Given the description of an element on the screen output the (x, y) to click on. 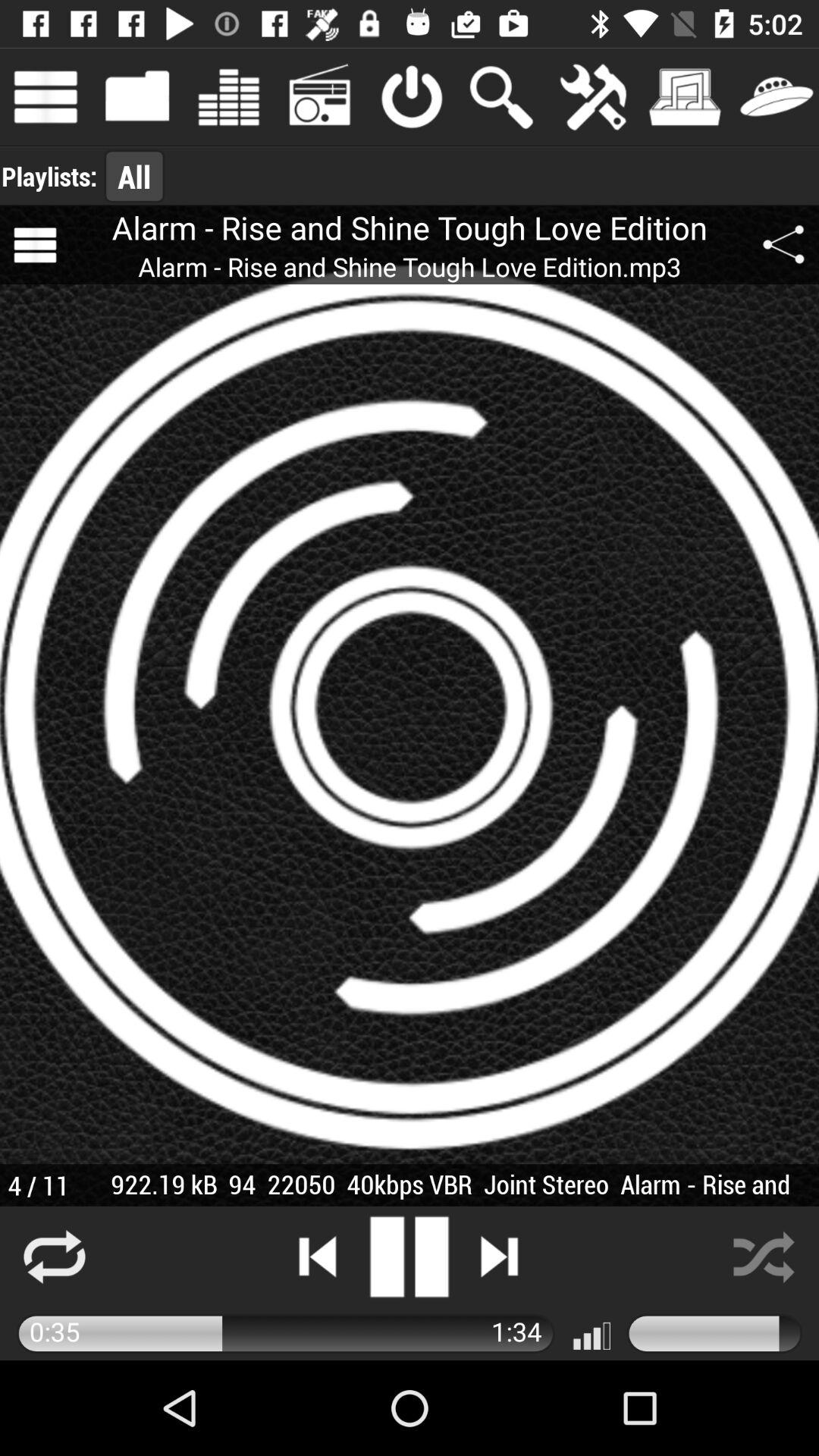
open item to the left of the   all (49, 175)
